Given the description of an element on the screen output the (x, y) to click on. 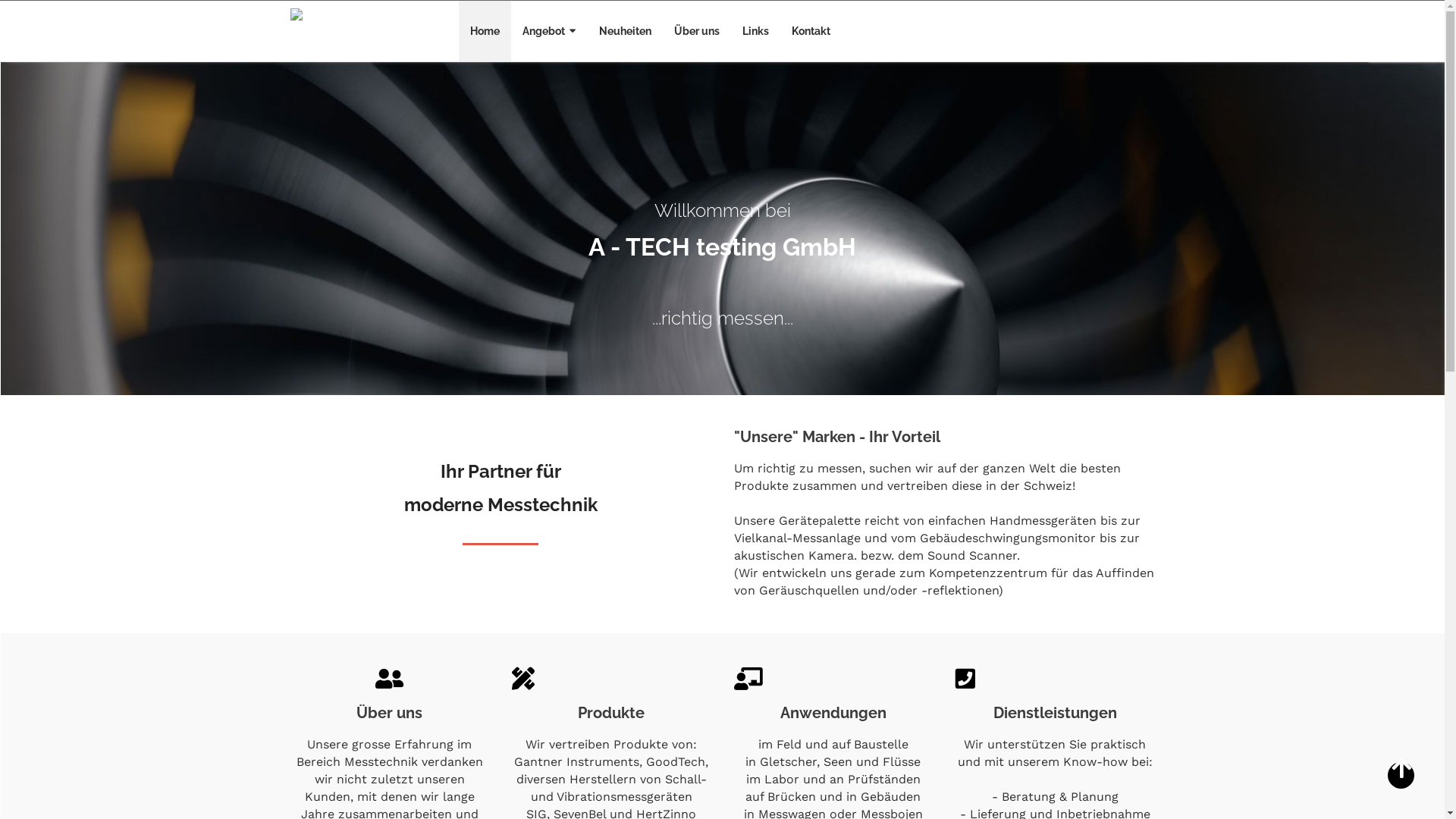
Links Element type: text (755, 30)
Angebot Element type: text (549, 30)
Kontakt Element type: text (810, 30)
Neuheiten Element type: text (624, 30)
Home Element type: text (484, 30)
